Given the description of an element on the screen output the (x, y) to click on. 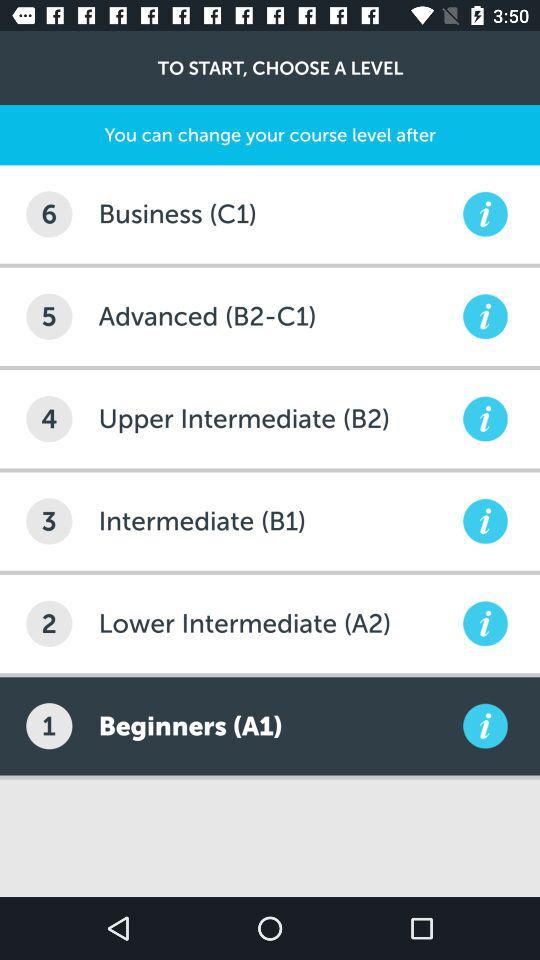
turn off the icon below you can change item (49, 214)
